Given the description of an element on the screen output the (x, y) to click on. 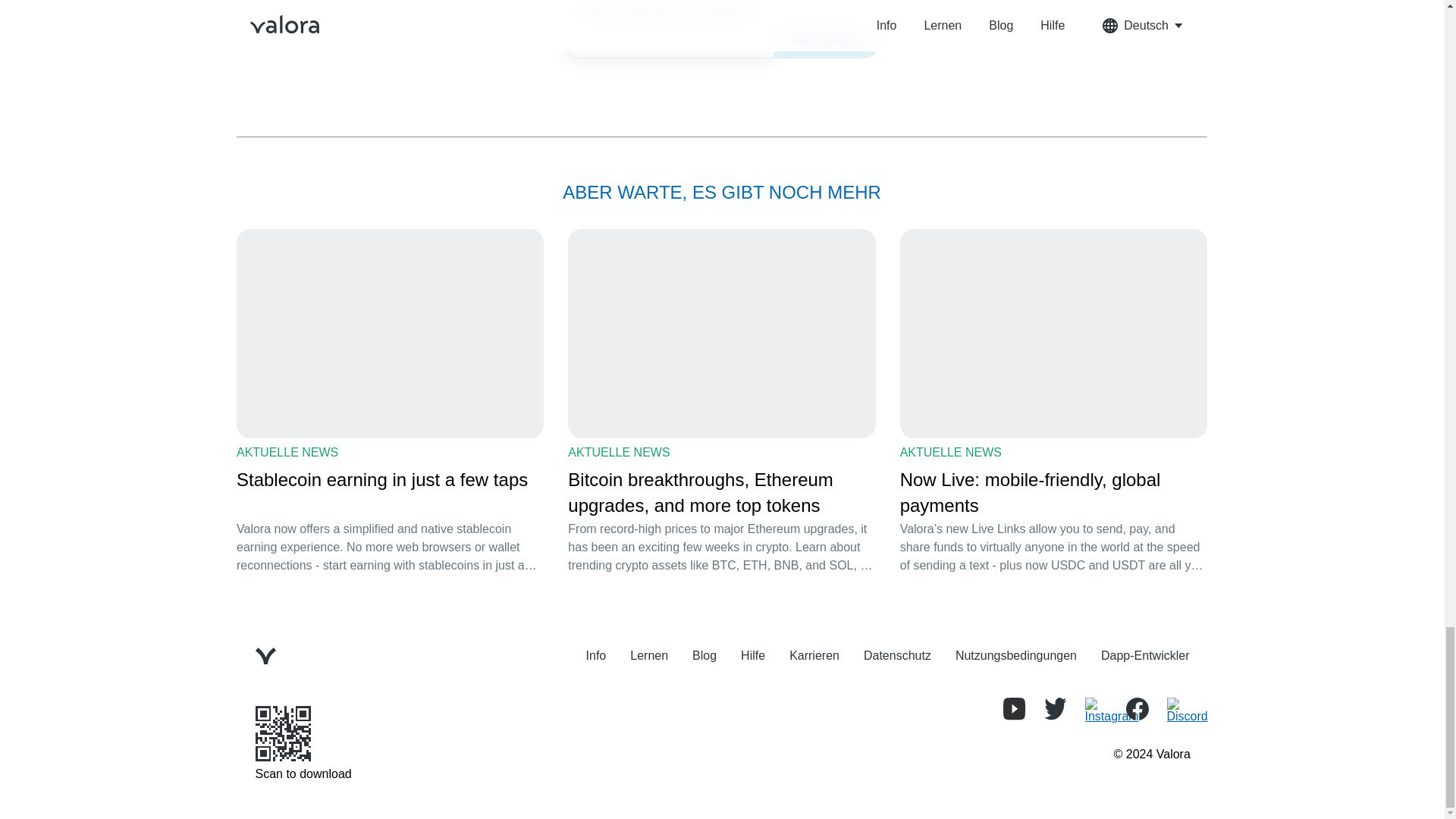
Abonnieren (827, 40)
Stablecoin earning in just a few taps (389, 493)
